Given the description of an element on the screen output the (x, y) to click on. 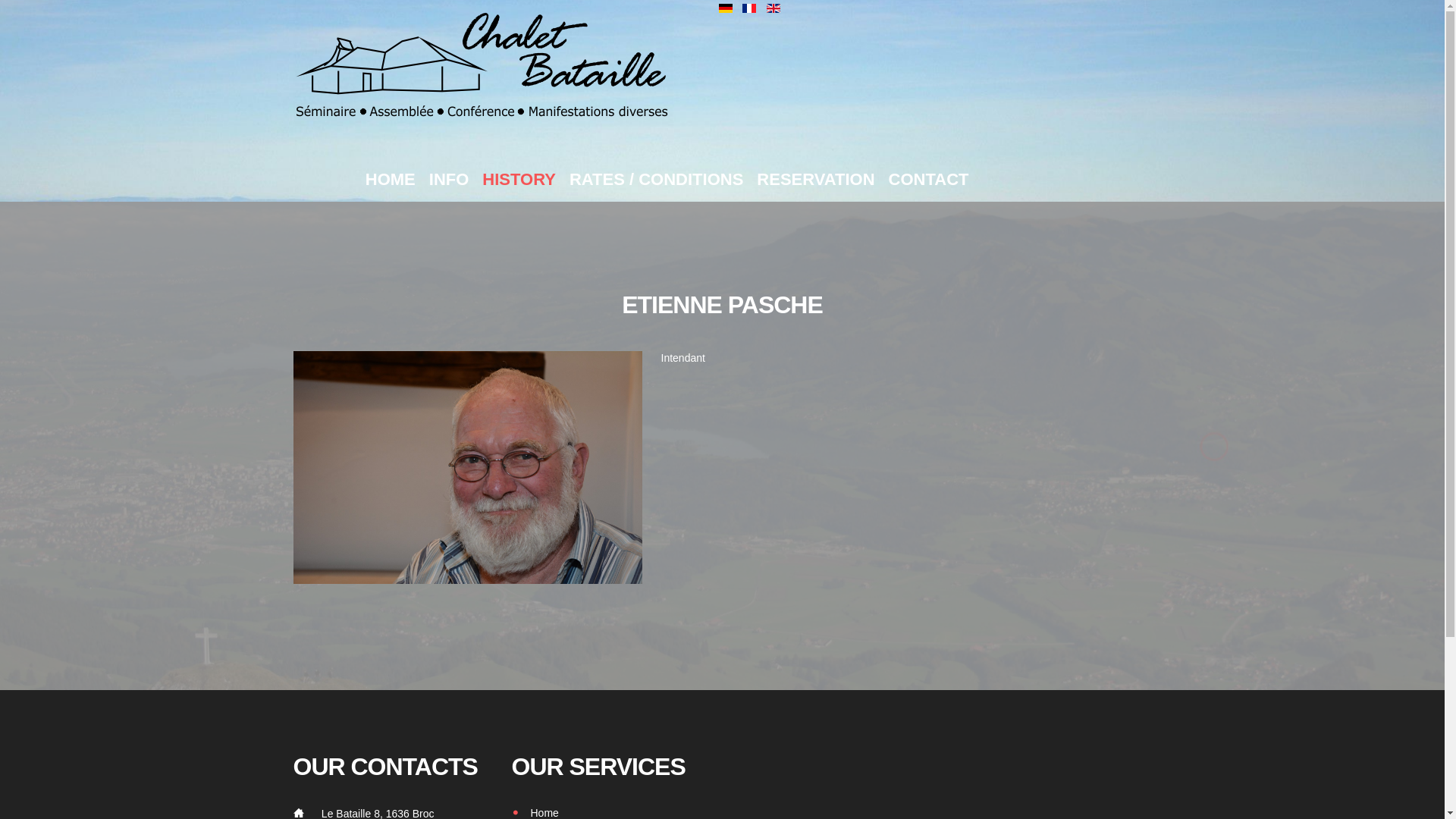
RESERVATION Element type: text (815, 179)
HOME Element type: text (390, 179)
HISTORY Element type: text (518, 179)
CONTACT Element type: text (928, 179)
English (UK) Element type: hover (773, 7)
deutsch Element type: hover (725, 7)
francais Element type: hover (749, 7)
